Given the description of an element on the screen output the (x, y) to click on. 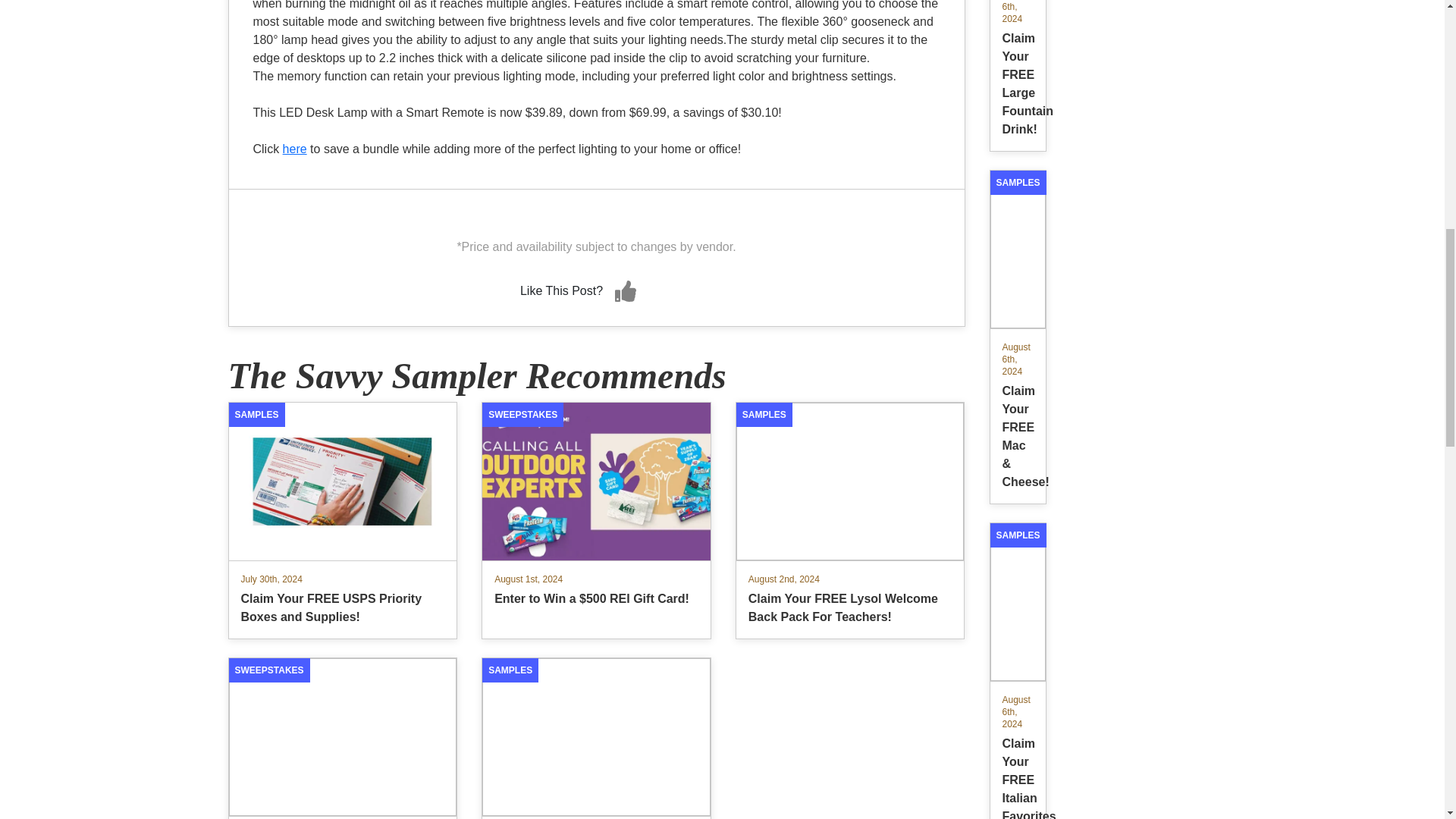
here (294, 148)
